Given the description of an element on the screen output the (x, y) to click on. 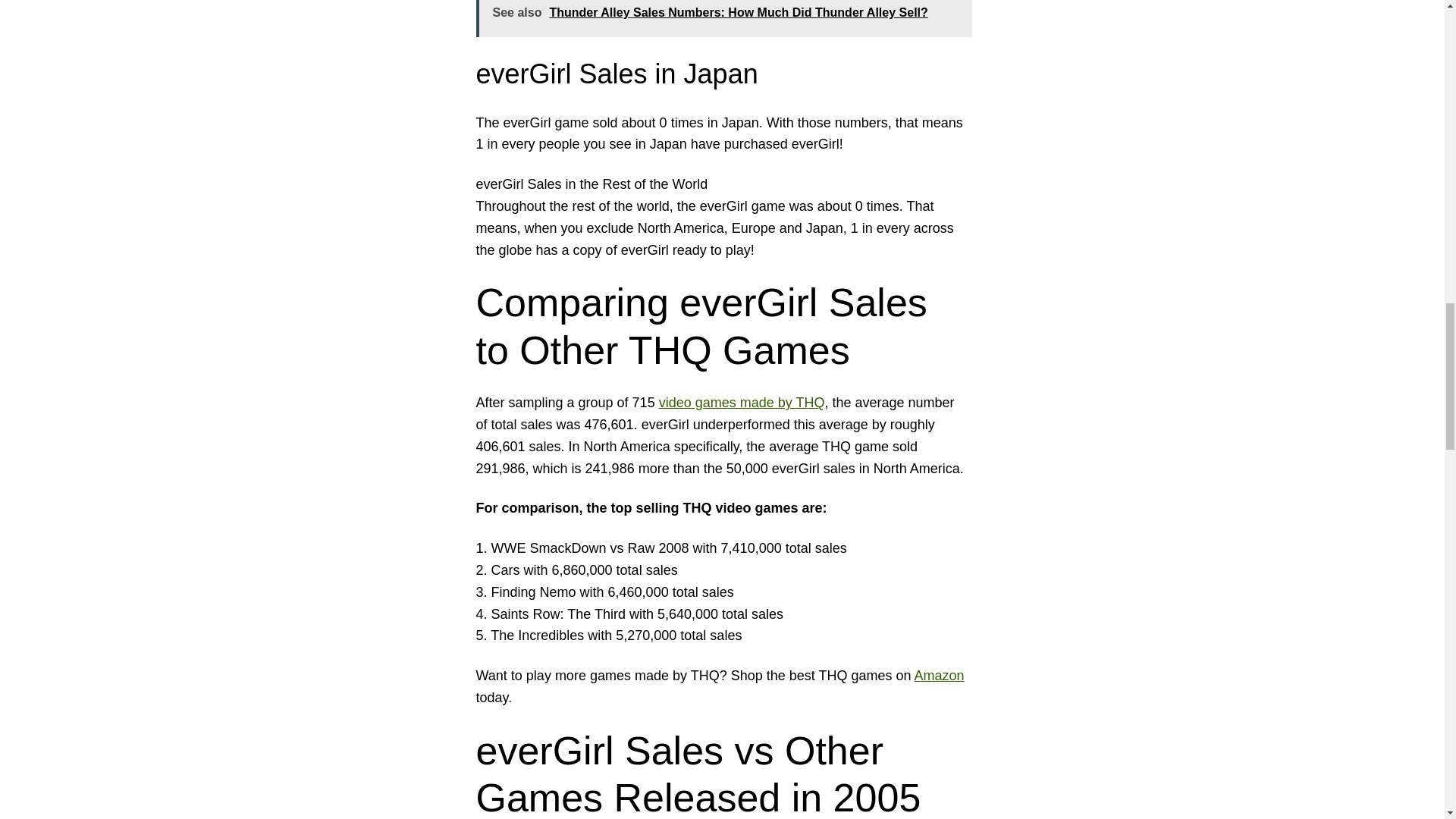
Amazon (938, 675)
video games made by THQ (742, 402)
